Given the description of an element on the screen output the (x, y) to click on. 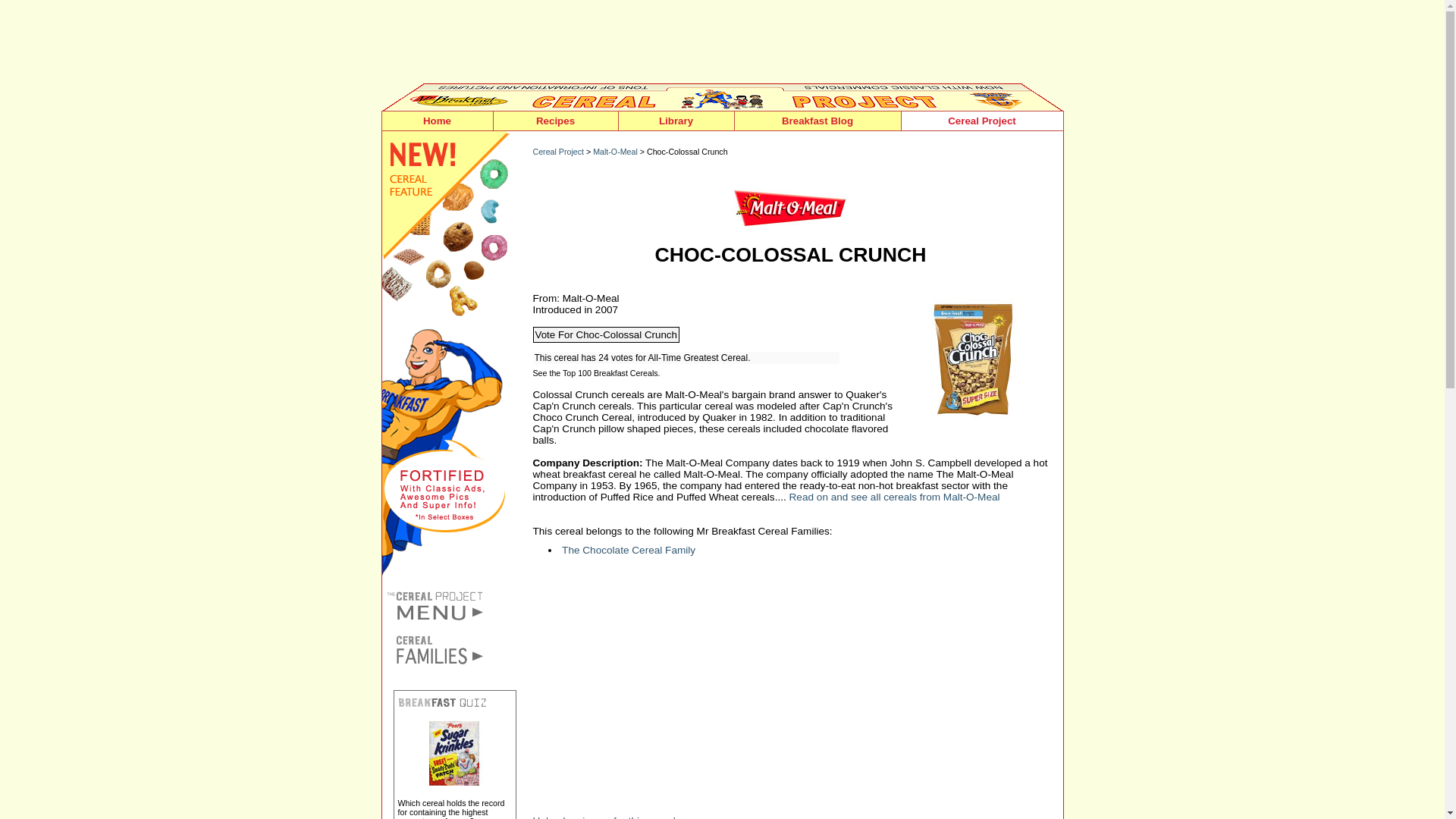
Advertisement (721, 41)
Cereal Project (981, 121)
Recipes (555, 121)
Advertisement (758, 692)
Breakfast Blog (817, 121)
Vote For Choc-Colossal Crunch (605, 334)
Home (437, 121)
Library (676, 121)
